Given the description of an element on the screen output the (x, y) to click on. 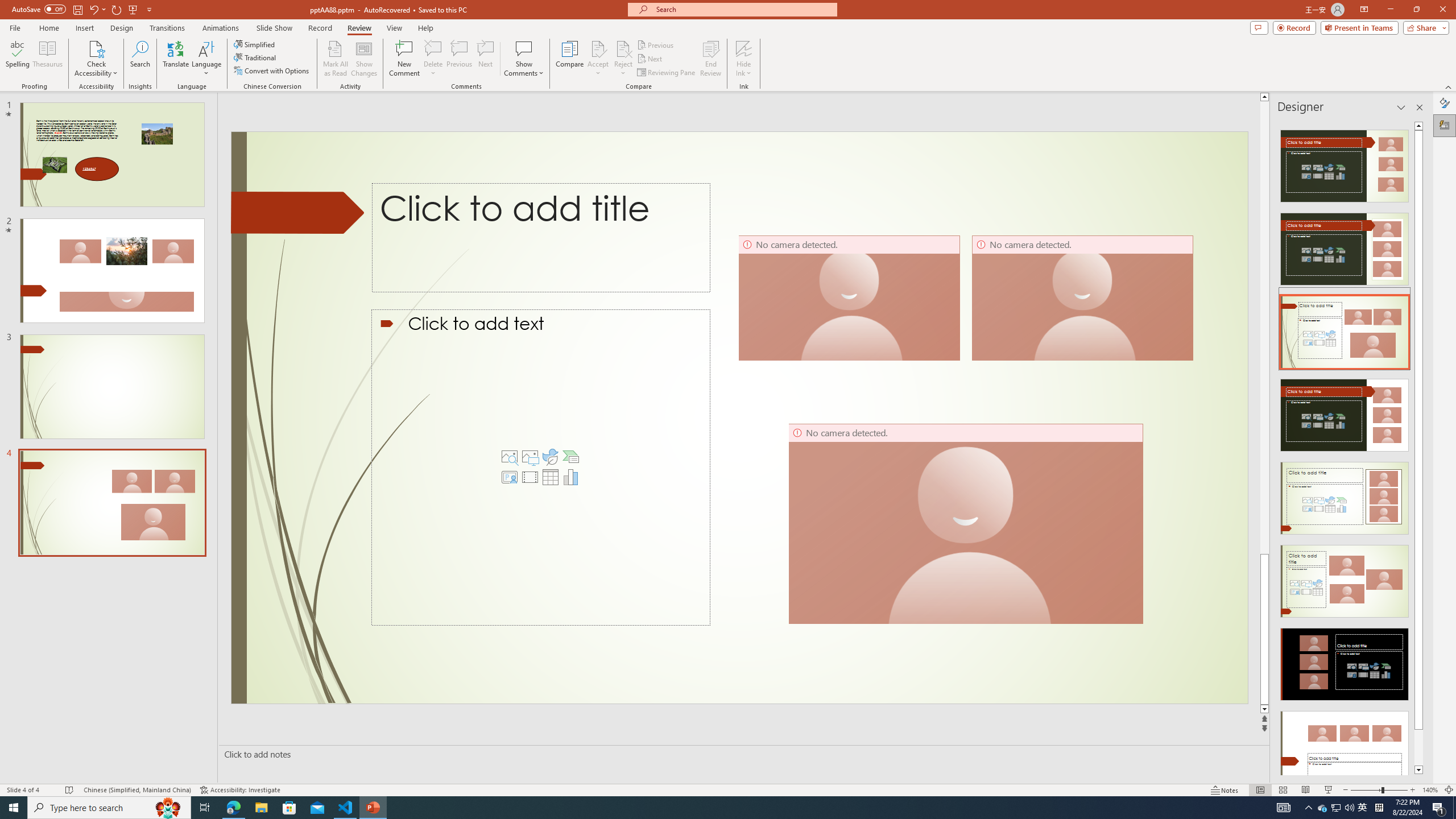
Slide Notes (741, 754)
Camera 4, No camera detected. (965, 523)
New Comment (403, 58)
Content Placeholder (540, 467)
Next (649, 58)
Format Background (1444, 102)
